Given the description of an element on the screen output the (x, y) to click on. 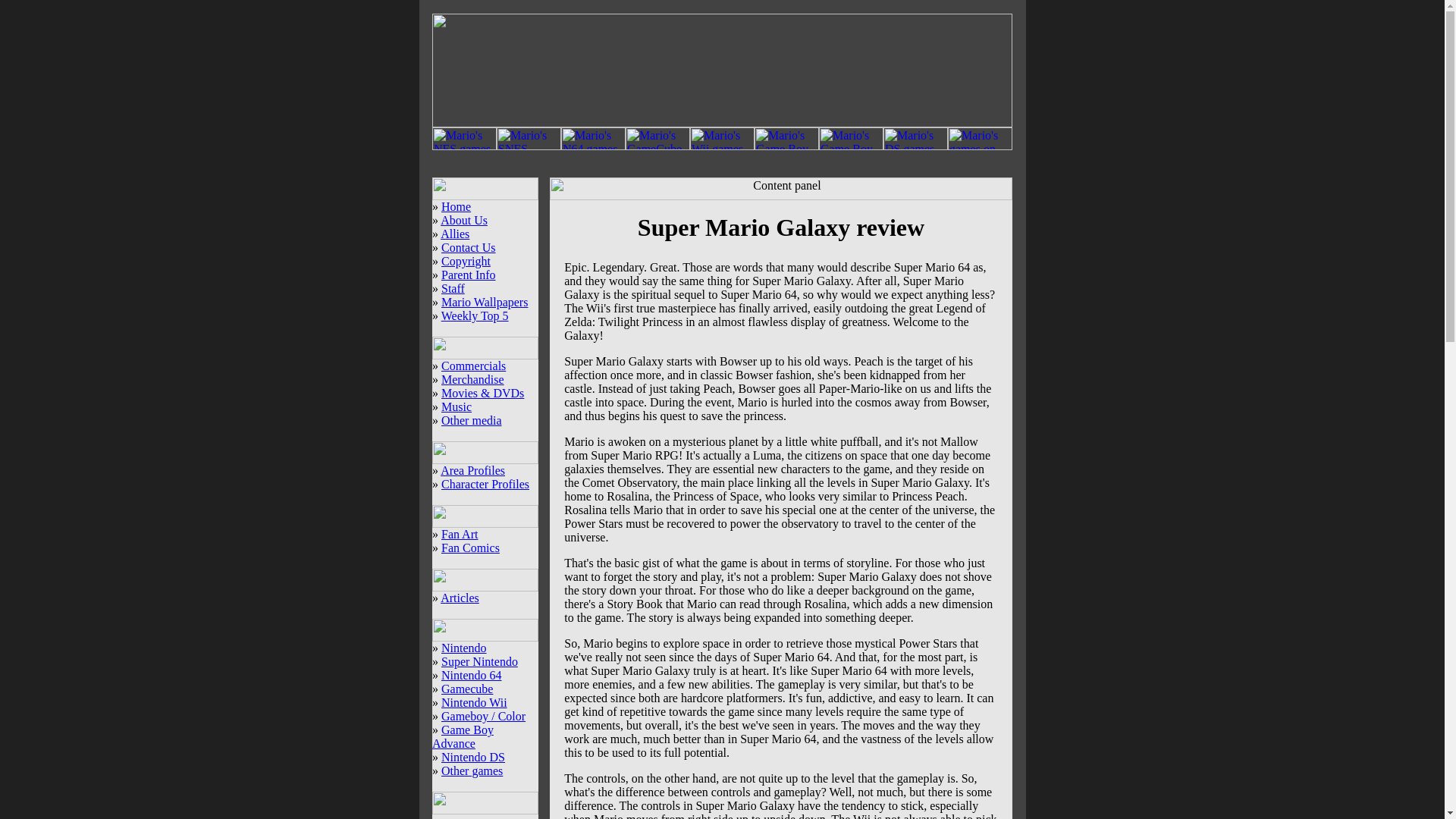
Gamecube (467, 688)
Area Profiles (473, 470)
Nintendo 64 (471, 675)
Mario Wallpapers (484, 301)
Articles (460, 597)
Copyright (465, 260)
Parent Info (468, 274)
Other games (471, 770)
GB (786, 145)
Fan Art (459, 533)
SNES (528, 145)
GCN (658, 145)
Home (455, 205)
Other media (471, 420)
Wii (722, 145)
